Given the description of an element on the screen output the (x, y) to click on. 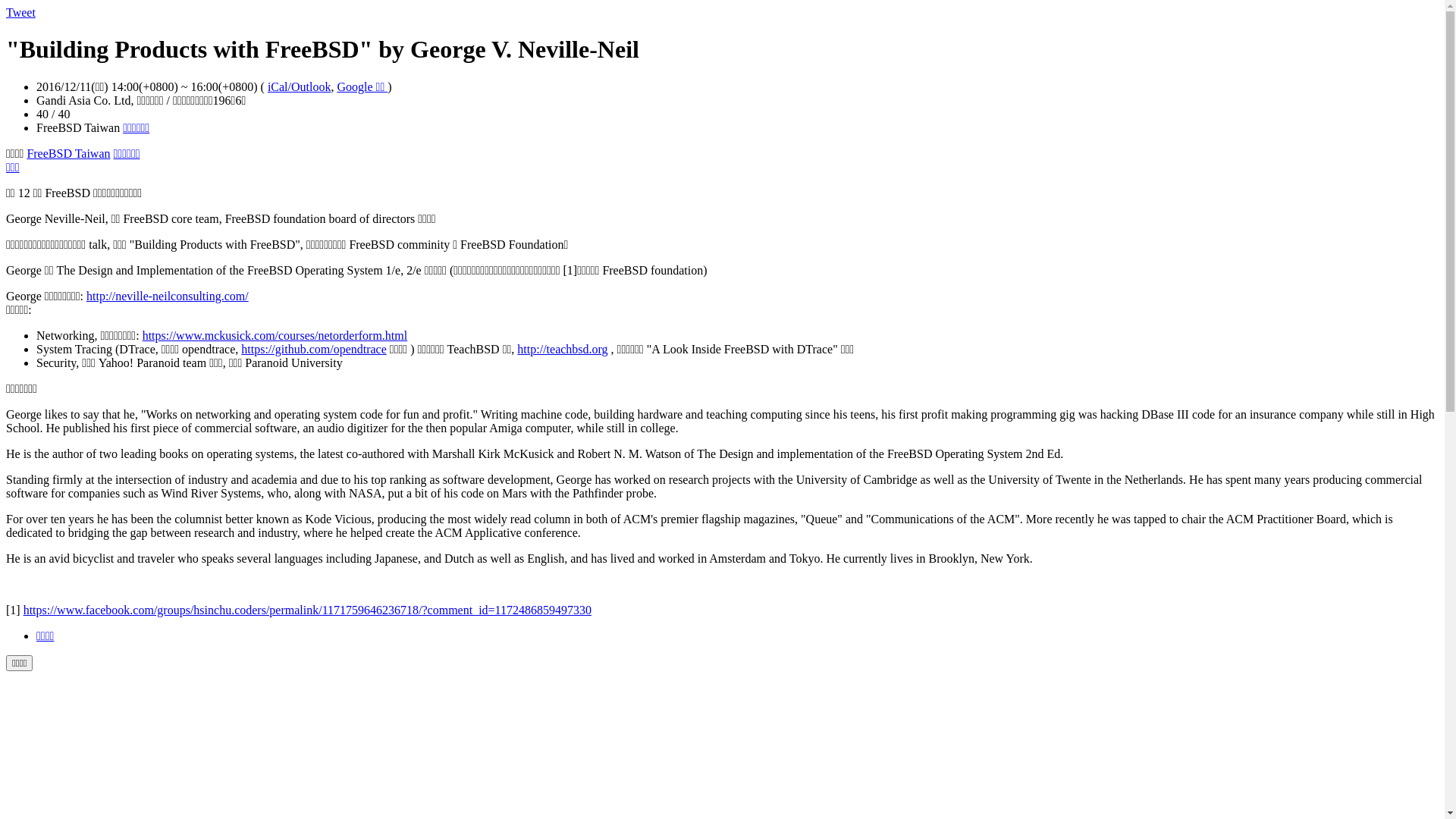
https://github.com/opendtrace Element type: text (313, 348)
http://neville-neilconsulting.com/ Element type: text (167, 295)
Tweet Element type: text (20, 12)
iCal/Outlook Element type: text (299, 86)
http://teachbsd.org Element type: text (562, 348)
FreeBSD Taiwan Element type: text (67, 153)
https://www.mckusick.com/courses/netorderform.html Element type: text (274, 335)
